Given the description of an element on the screen output the (x, y) to click on. 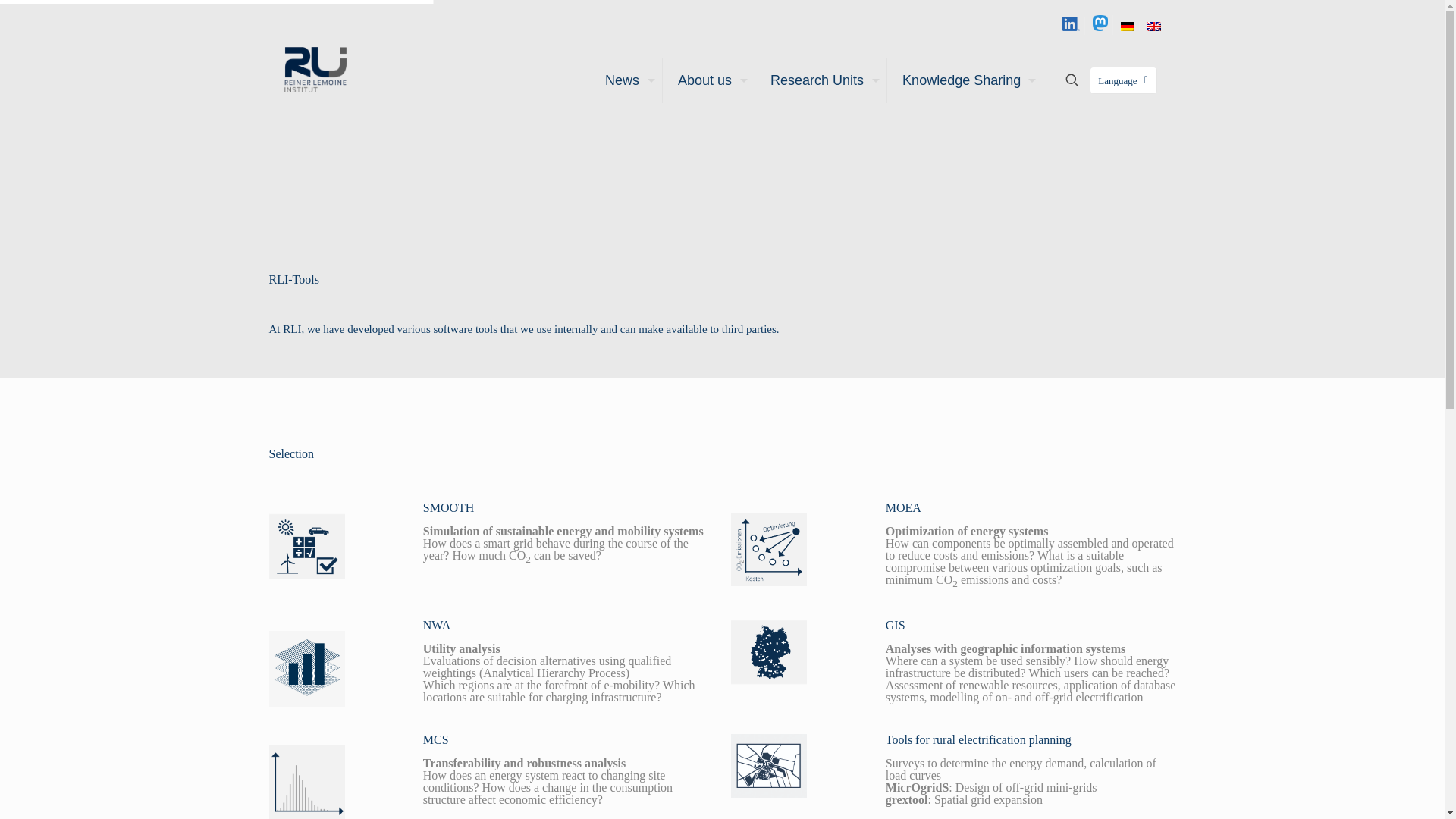
Reiner Lemoine Institut (327, 68)
About us (708, 79)
News (625, 79)
Research Units (820, 79)
